Given the description of an element on the screen output the (x, y) to click on. 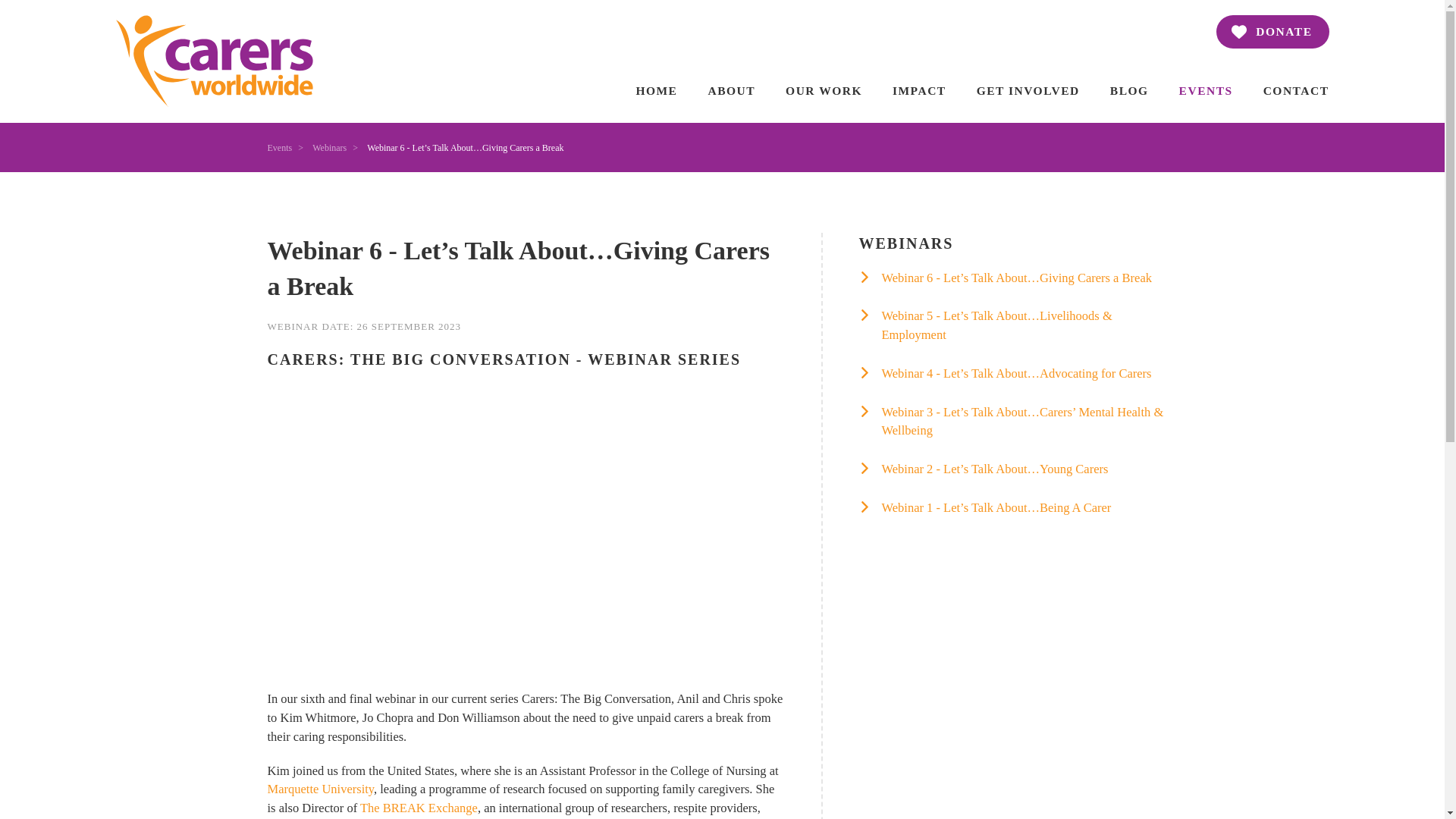
ABOUT (731, 90)
HOME (655, 90)
OUR WORK (823, 90)
WEBINARS (1017, 242)
DONATE (1271, 31)
WEBINAR DATE: 26 SEPTEMBER 2023 (524, 326)
